Given the description of an element on the screen output the (x, y) to click on. 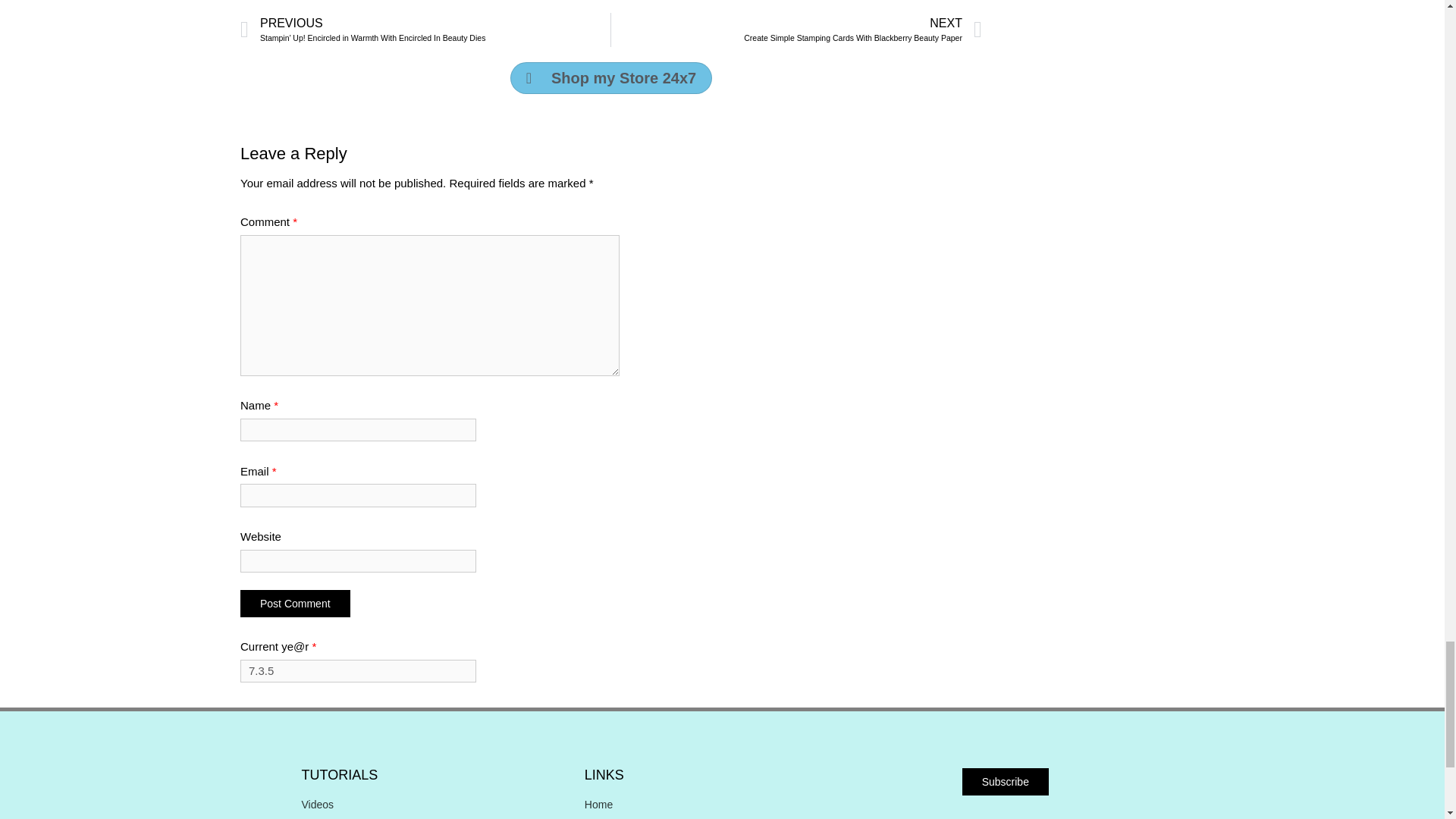
7.3.5 (358, 671)
Post Comment (295, 603)
